Given the description of an element on the screen output the (x, y) to click on. 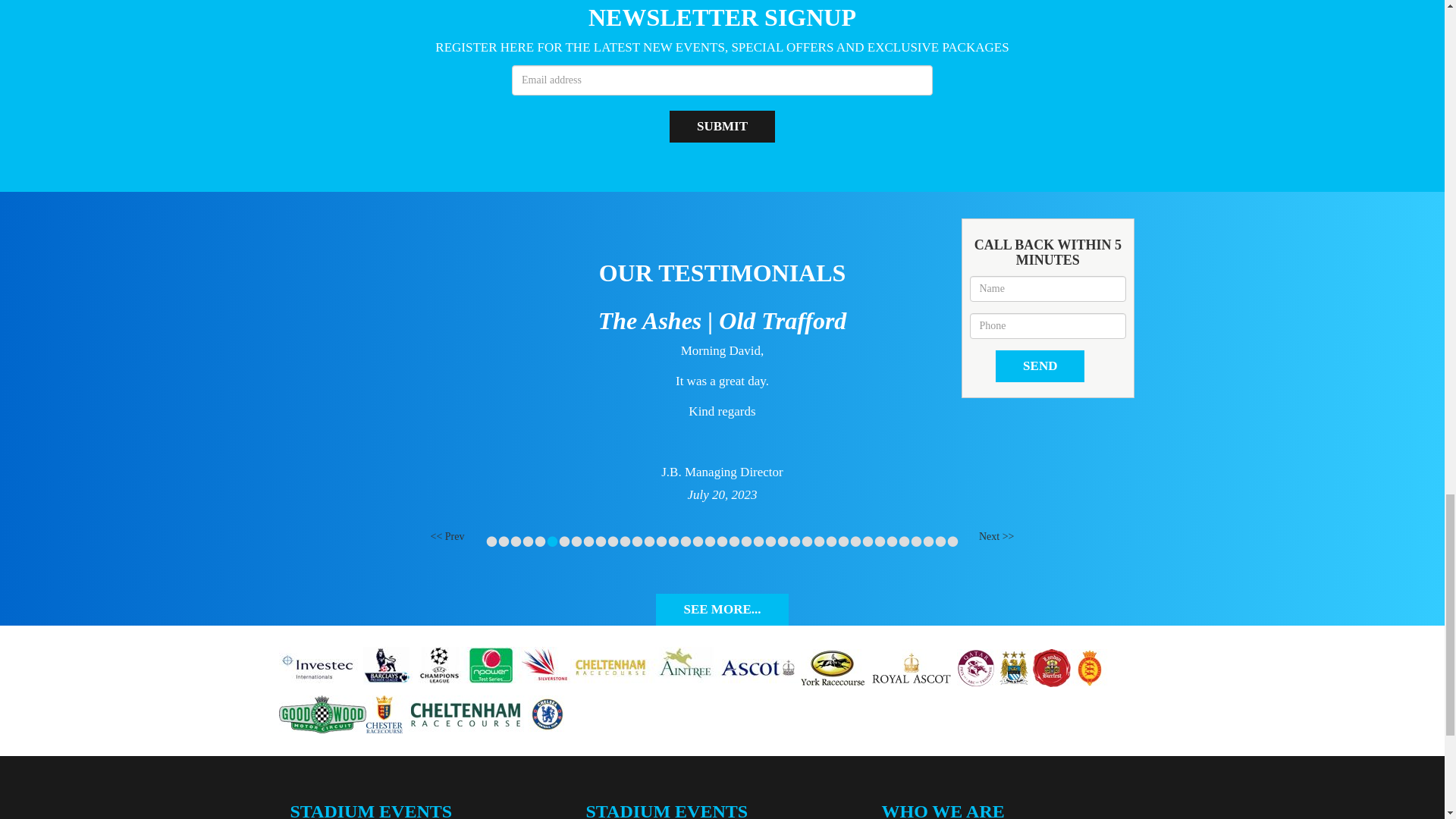
Submit (721, 126)
SEE MORE... (721, 609)
Submit (721, 126)
